Given the description of an element on the screen output the (x, y) to click on. 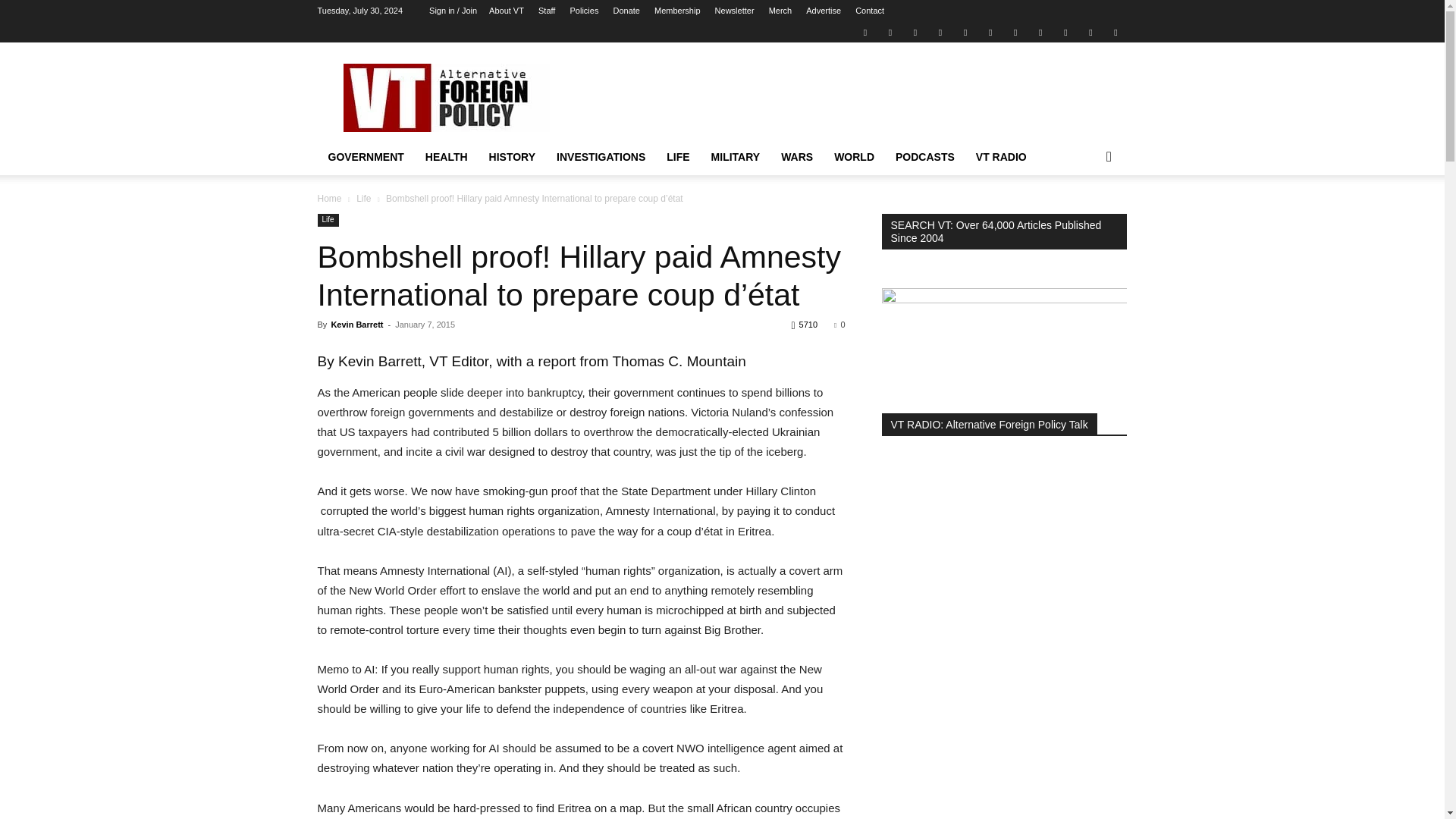
Facebook (890, 31)
Mail (915, 31)
Advertise (823, 10)
Merch (780, 10)
Reddit (940, 31)
Blogger (864, 31)
About VT (506, 10)
Policies (583, 10)
Newsletter (734, 10)
Donate (625, 10)
Staff (546, 10)
Rumble (964, 31)
Membership (676, 10)
Contact (869, 10)
